Given the description of an element on the screen output the (x, y) to click on. 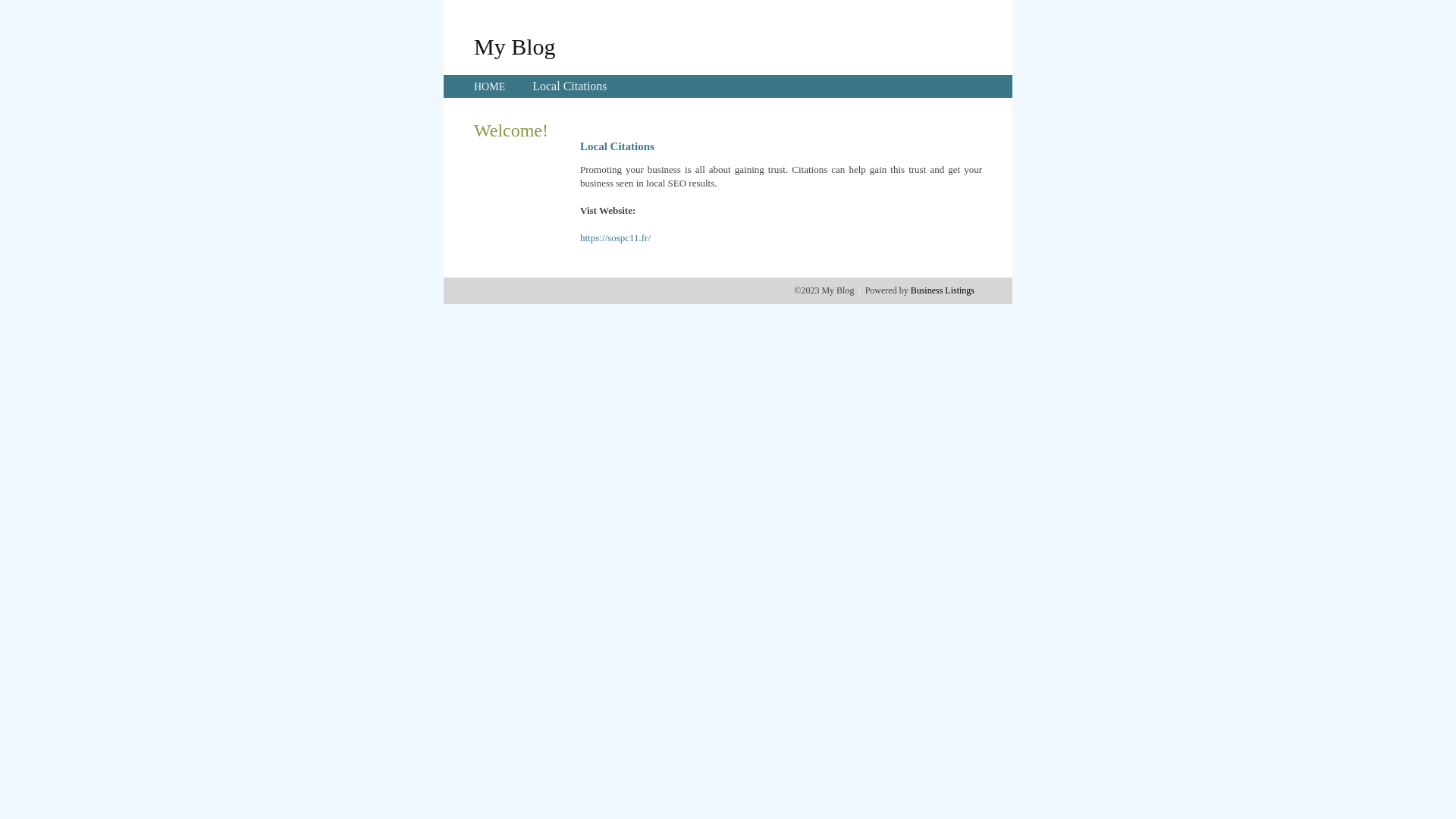
My Blog Element type: text (514, 46)
Local Citations Element type: text (569, 85)
https://sospc11.fr/ Element type: text (615, 237)
HOME Element type: text (489, 86)
Business Listings Element type: text (942, 290)
